Given the description of an element on the screen output the (x, y) to click on. 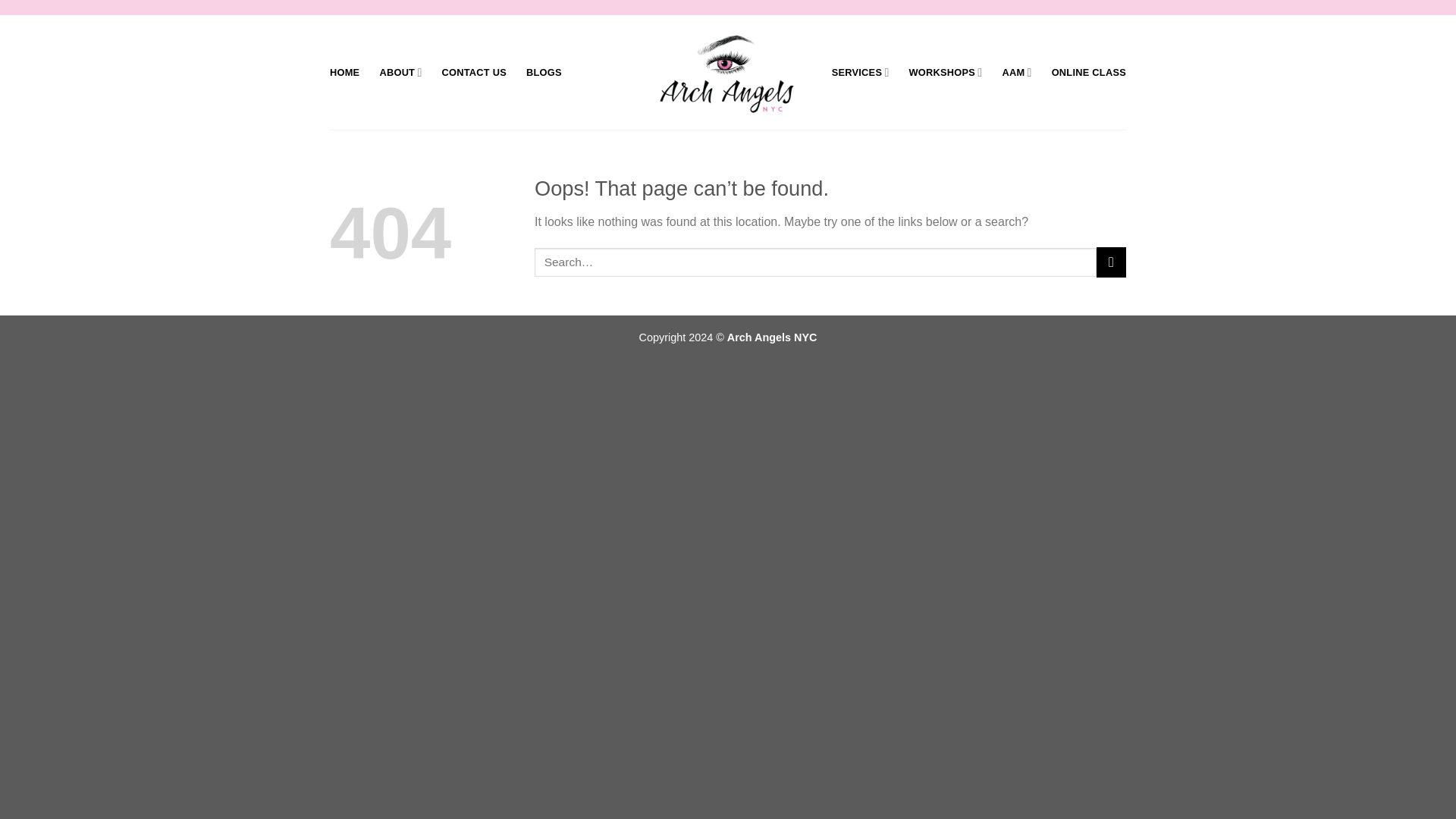
ABOUT (400, 71)
BLOGS (543, 72)
WORKSHOPS (945, 71)
HOME (344, 72)
CONTACT US (473, 72)
SERVICES (860, 71)
